Given the description of an element on the screen output the (x, y) to click on. 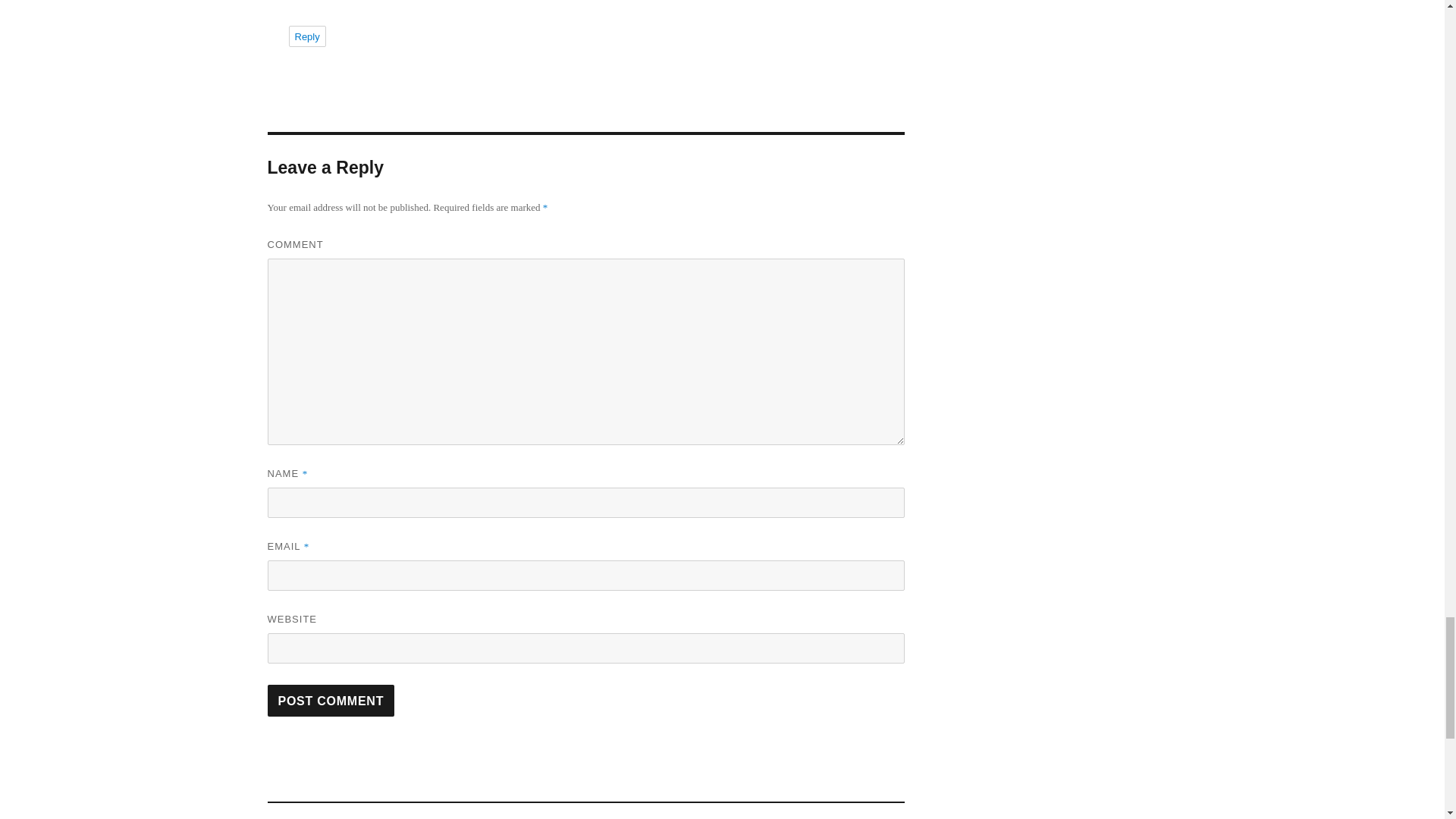
Post Comment (585, 811)
Reply (330, 700)
Post Comment (306, 35)
